Given the description of an element on the screen output the (x, y) to click on. 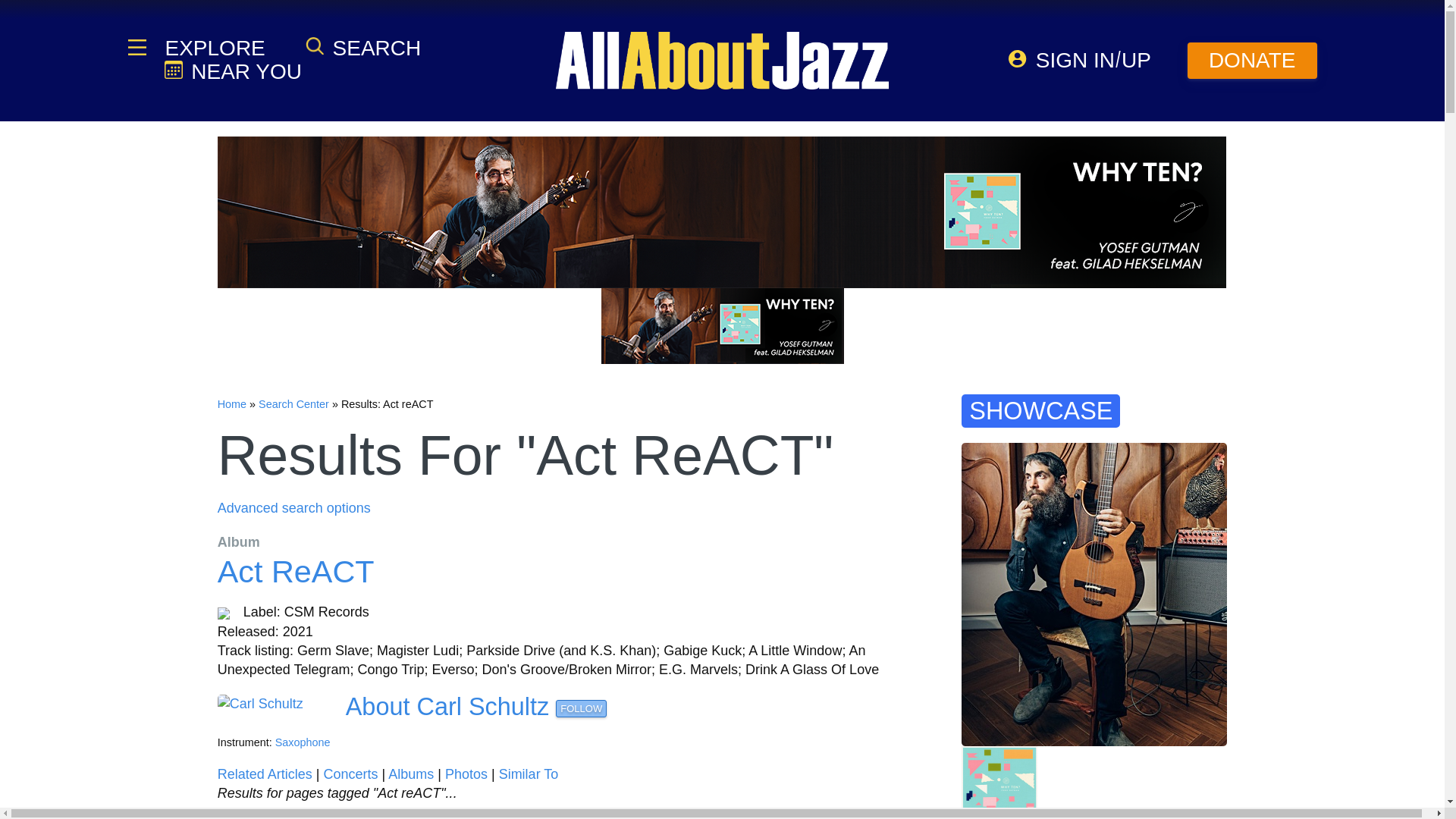
SIGN IN UP (1080, 60)
View Carl Schultz discography (410, 774)
SEARCH (362, 47)
View Carl Schultz Page at All About Jazz (448, 706)
Act ReACT (295, 571)
Near You (232, 71)
Click Here to Return to the All About Jazz Home Page (231, 404)
Welcome to All About Jazz! (722, 59)
Act reACT at All About Jazz (295, 571)
Follow (581, 709)
About Carl Schultz (448, 706)
EXPLORE (212, 47)
Advanced search options (293, 507)
Concerts (350, 774)
Artists similar to Carl Schultz (529, 774)
